Given the description of an element on the screen output the (x, y) to click on. 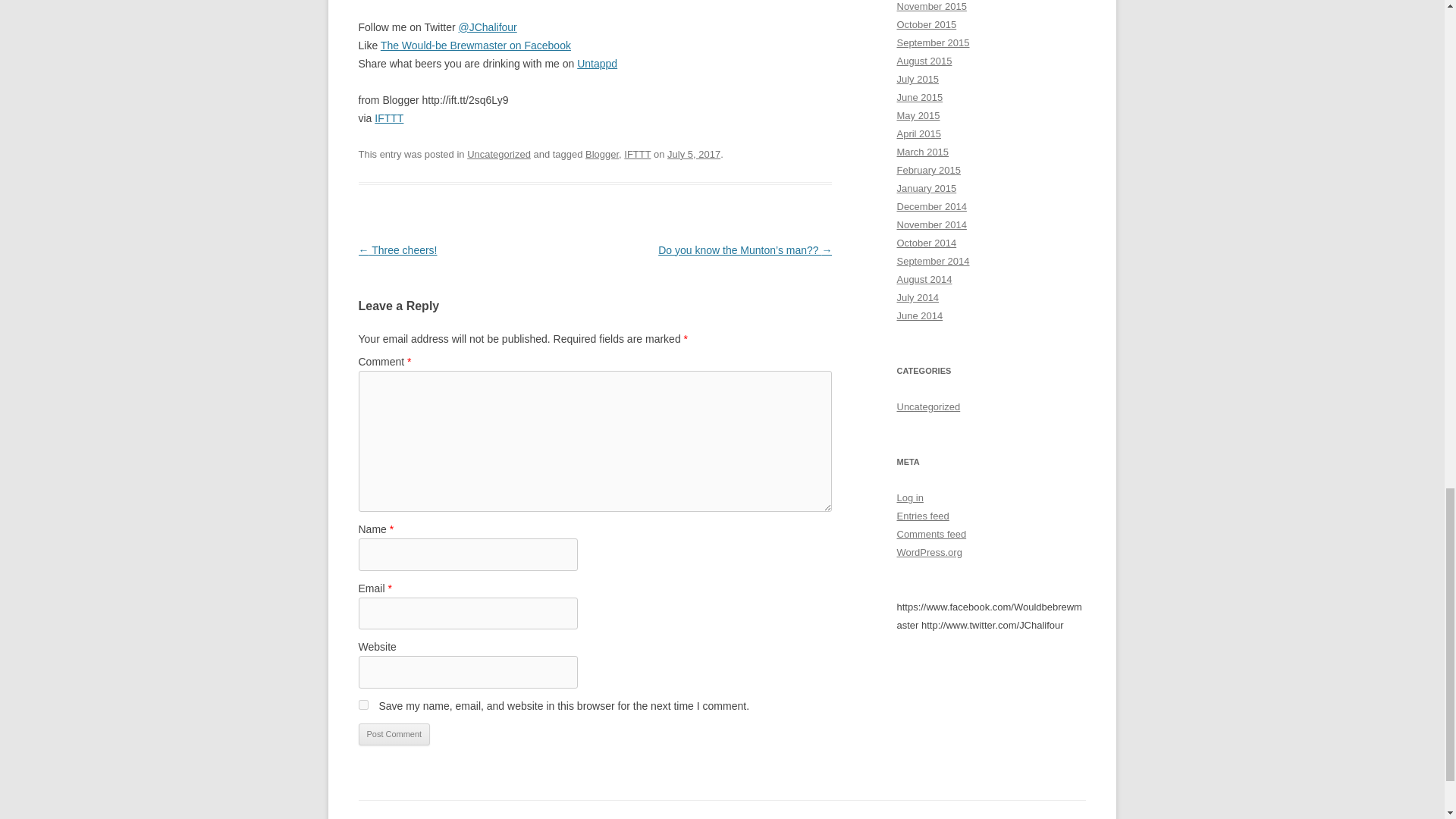
Post Comment (393, 734)
Blogger (601, 153)
Post Comment (393, 734)
The Would-be Brewmaster on Facebook (475, 45)
Uncategorized (499, 153)
Untappd (596, 63)
yes (363, 705)
IFTTT (388, 118)
July 5, 2017 (693, 153)
11:36 am (693, 153)
